Given the description of an element on the screen output the (x, y) to click on. 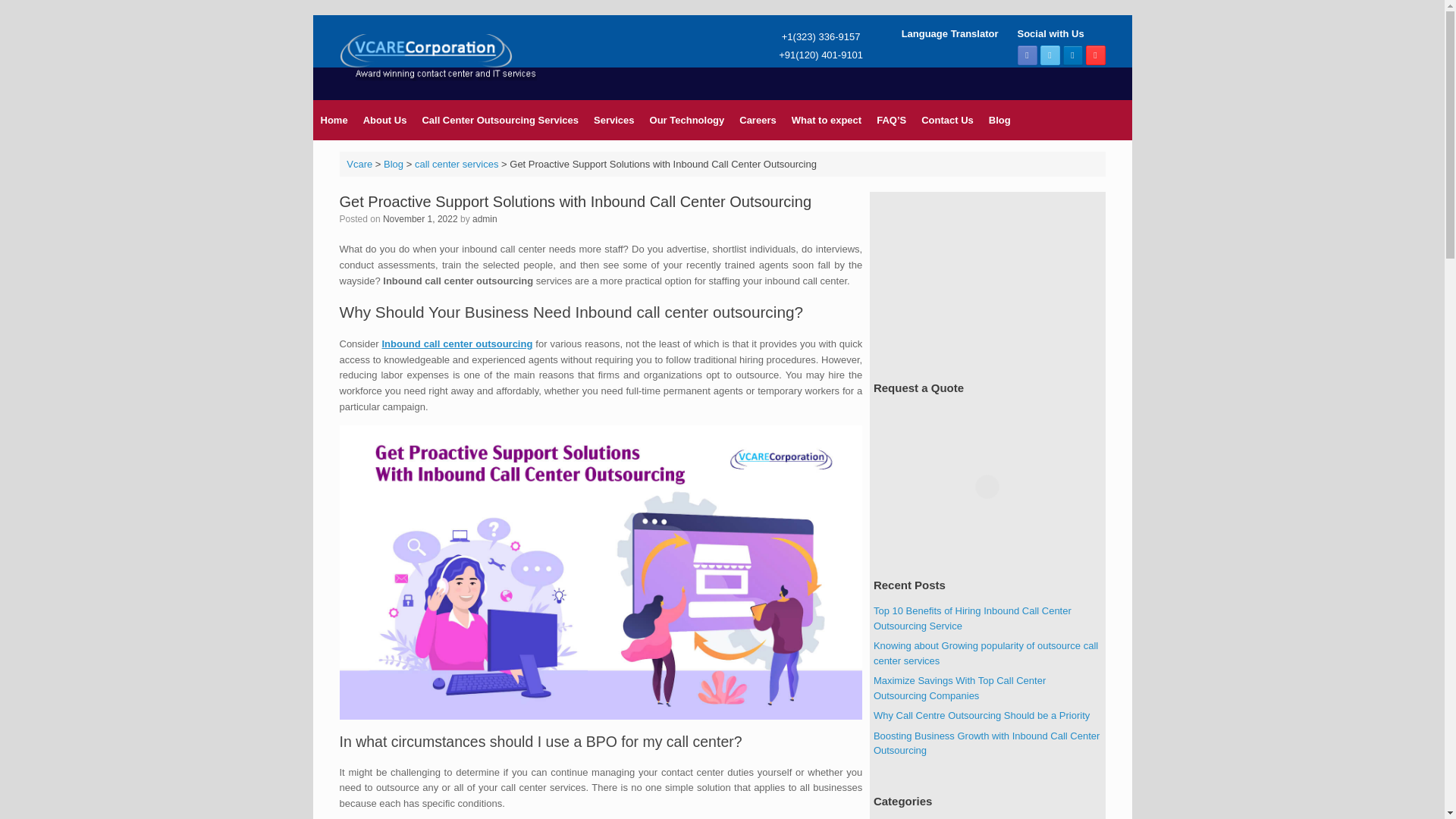
Go to Blog. (393, 163)
Careers (757, 119)
Home (334, 119)
Vcare Facebook (1026, 55)
About Us (384, 119)
Go to the call center services category archives. (456, 163)
View all posts by admin (484, 218)
Go to Vcare. (359, 163)
Call Center Outsourcing Services (499, 119)
Vcare Twitter (1050, 55)
